Given the description of an element on the screen output the (x, y) to click on. 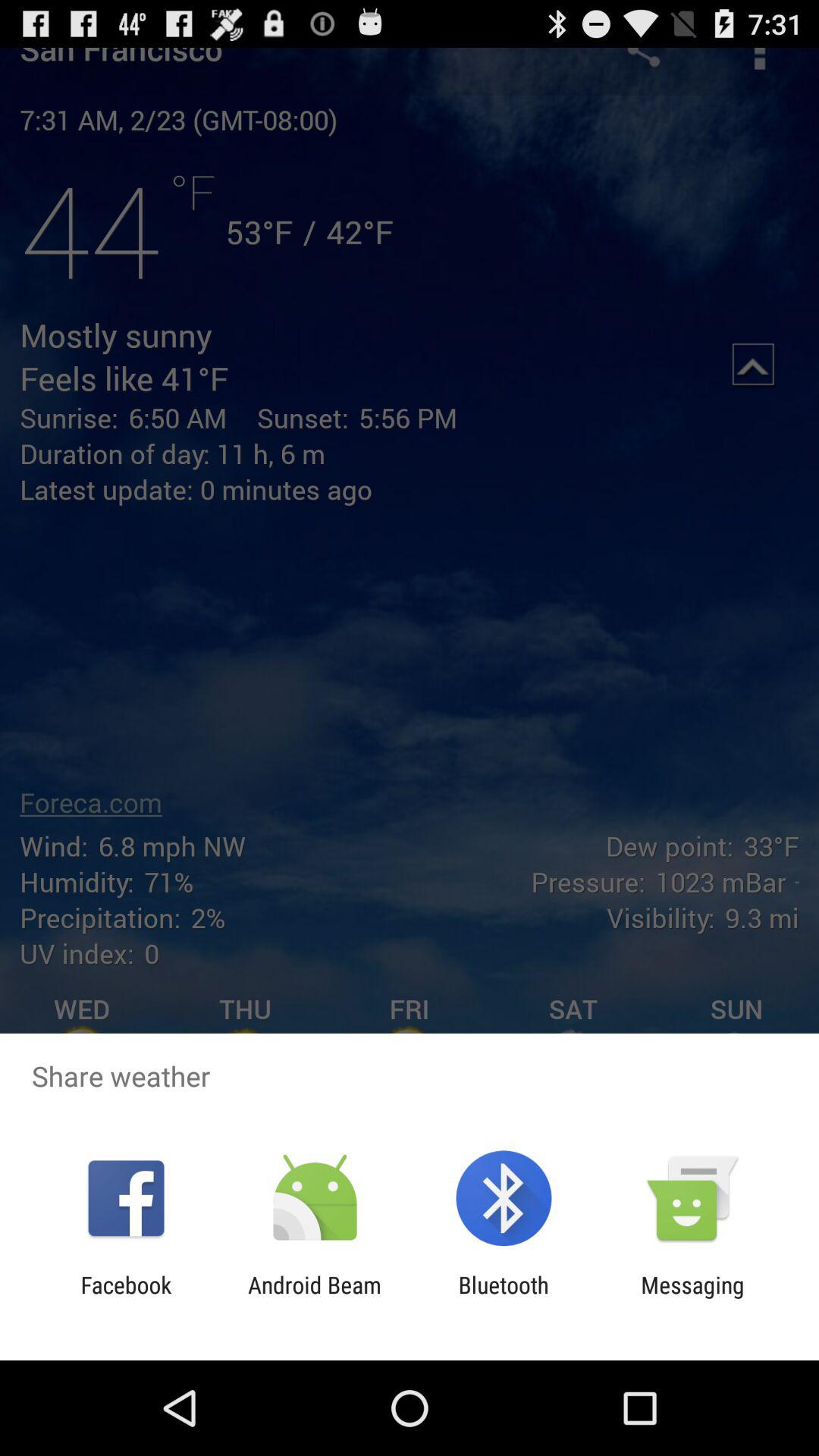
select app to the right of android beam item (503, 1298)
